Given the description of an element on the screen output the (x, y) to click on. 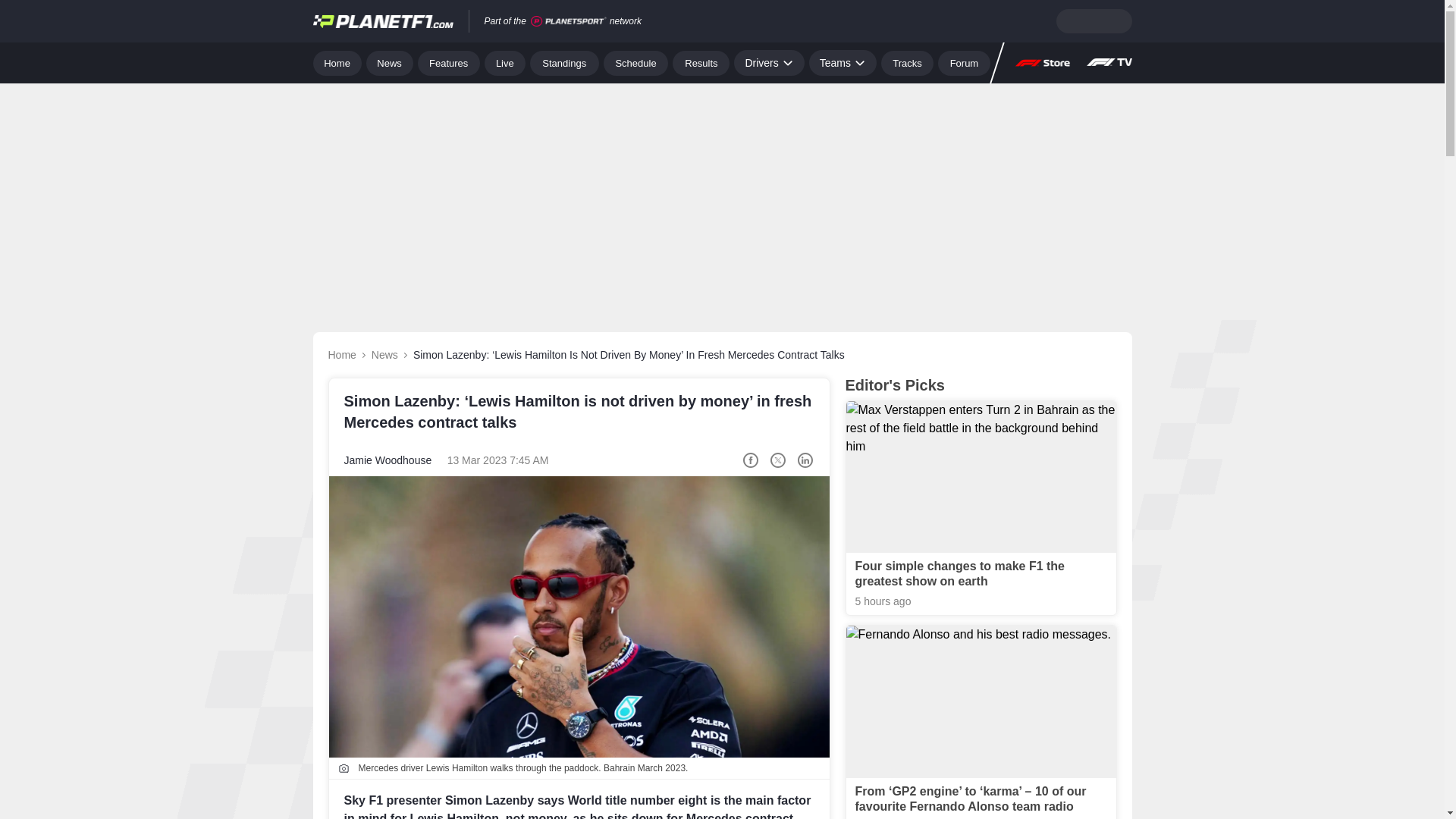
Standings (563, 62)
News (389, 62)
Drivers (768, 62)
Schedule (636, 62)
Live (504, 62)
Features (448, 62)
Home (337, 62)
Teams (842, 62)
Results (700, 62)
